Given the description of an element on the screen output the (x, y) to click on. 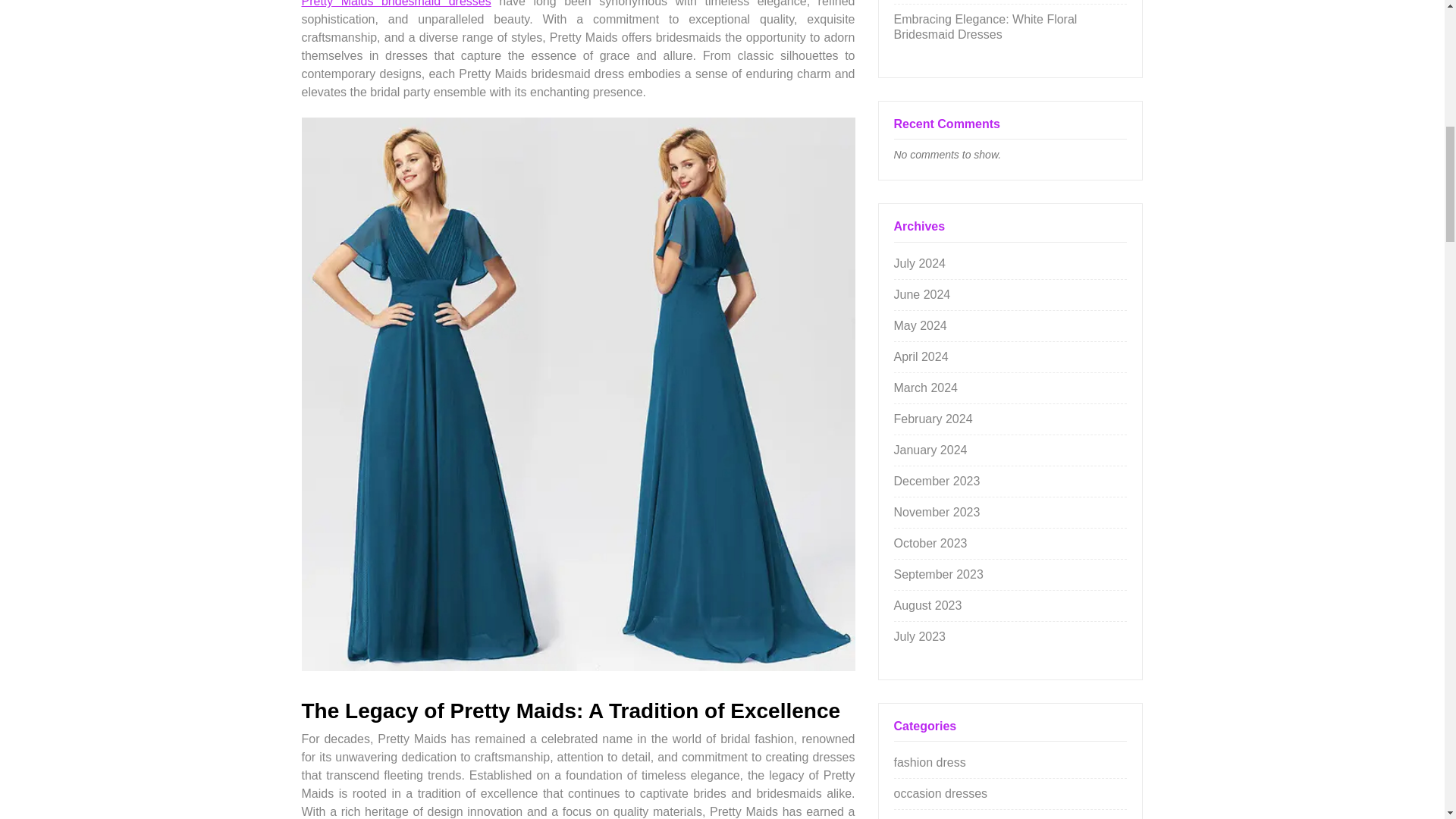
Embracing Elegance: White Floral Bridesmaid Dresses (985, 26)
November 2023 (936, 512)
August 2023 (926, 604)
June 2024 (921, 294)
March 2024 (925, 387)
July 2024 (918, 263)
September 2023 (937, 574)
October 2023 (929, 543)
January 2024 (929, 449)
July 2023 (918, 635)
May 2024 (919, 325)
Pretty Maids bridesmaid dresses (396, 3)
April 2024 (920, 356)
December 2023 (936, 481)
February 2024 (932, 418)
